Given the description of an element on the screen output the (x, y) to click on. 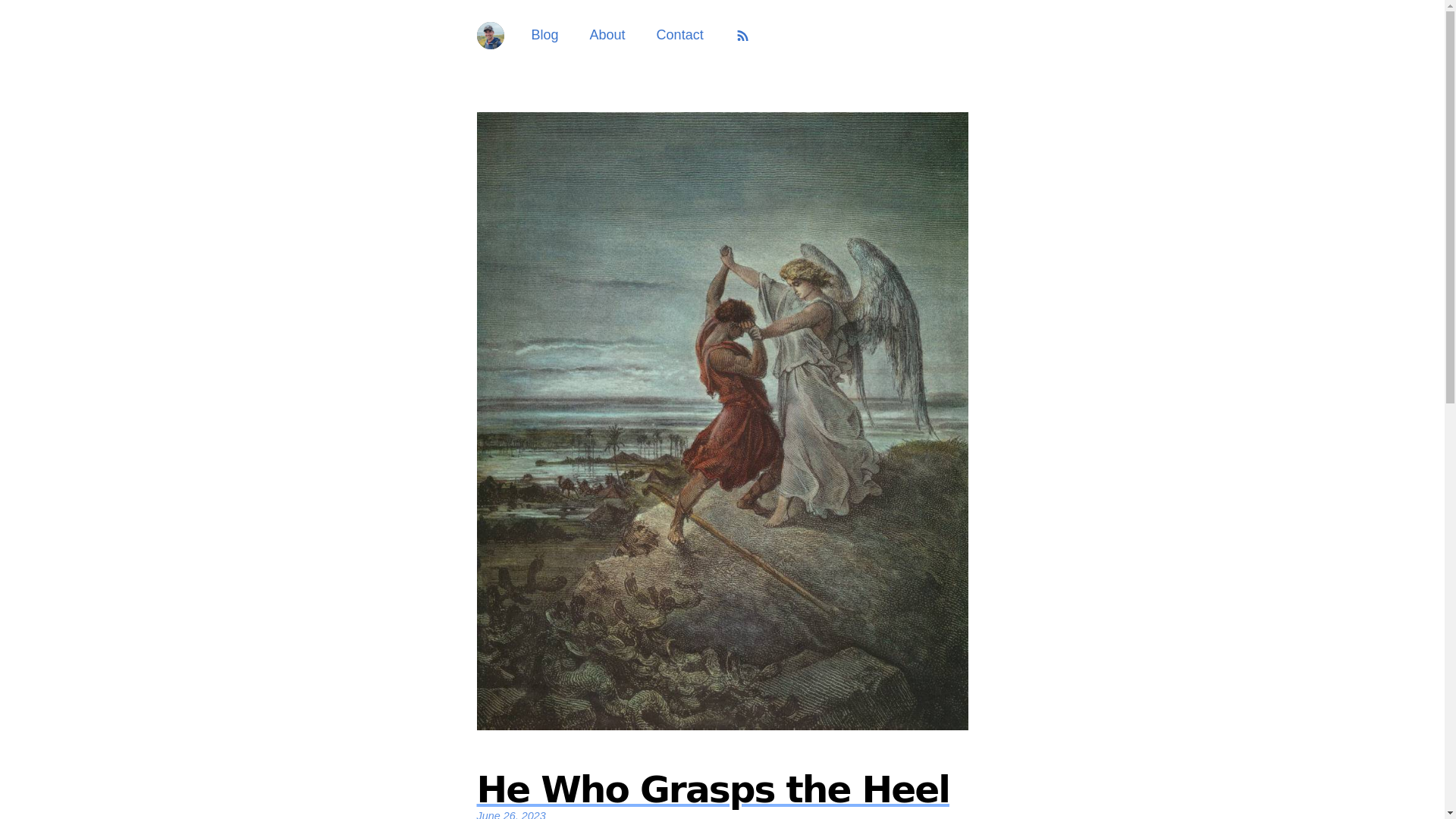
About (722, 795)
Blog (607, 35)
Contact (544, 35)
